Given the description of an element on the screen output the (x, y) to click on. 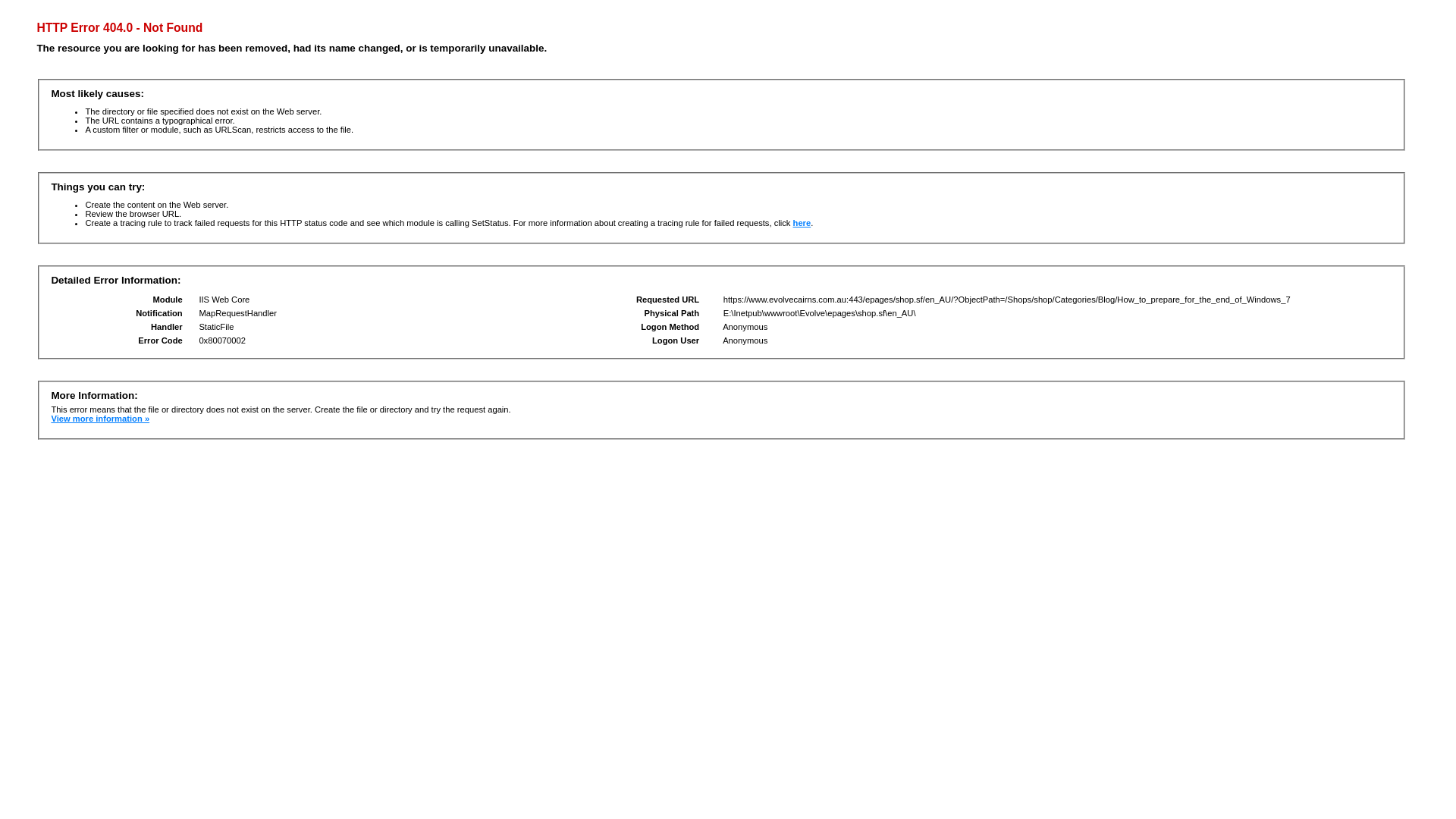
here Element type: text (802, 222)
